Given the description of an element on the screen output the (x, y) to click on. 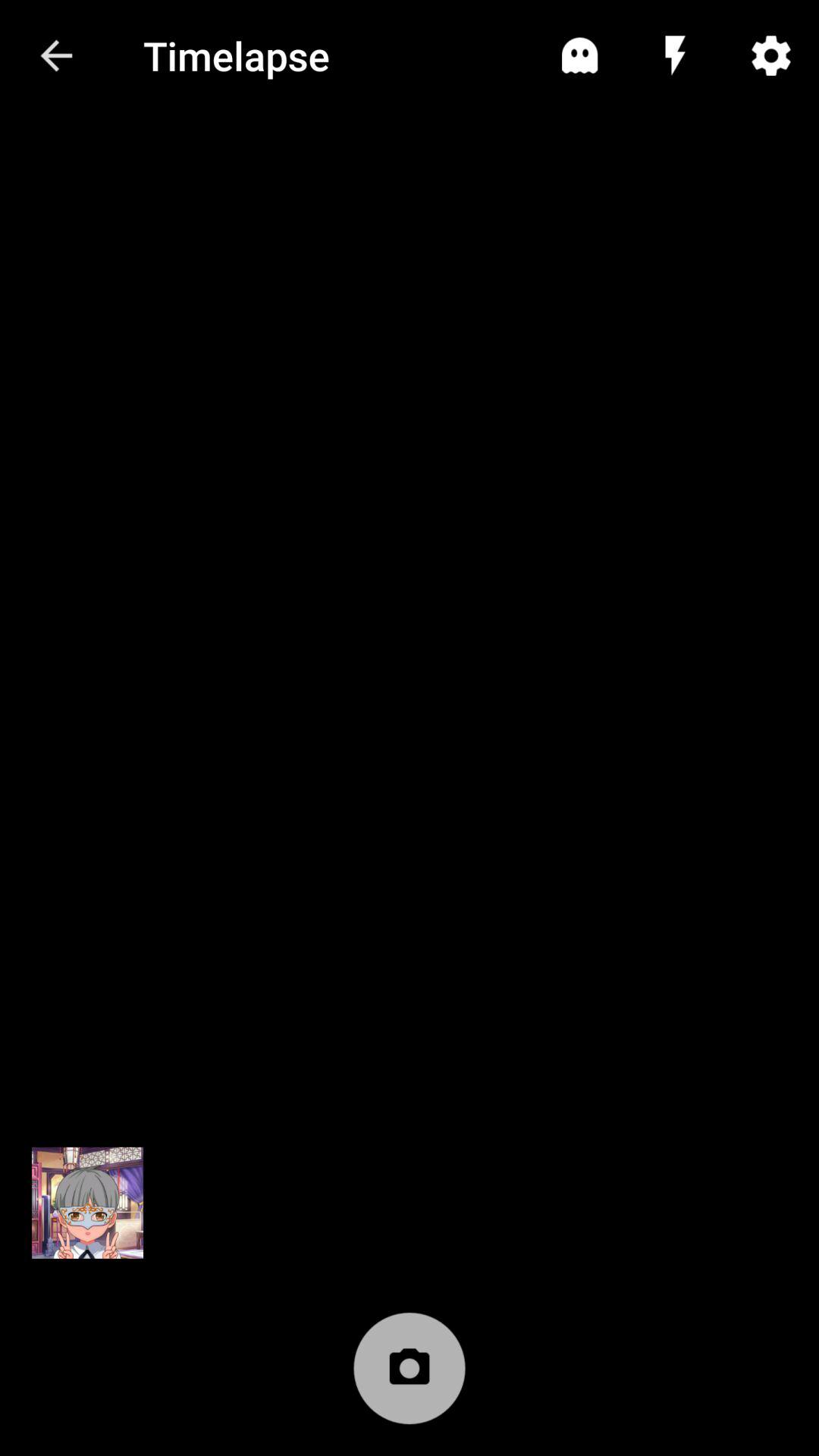
opens a picture (87, 1202)
